Given the description of an element on the screen output the (x, y) to click on. 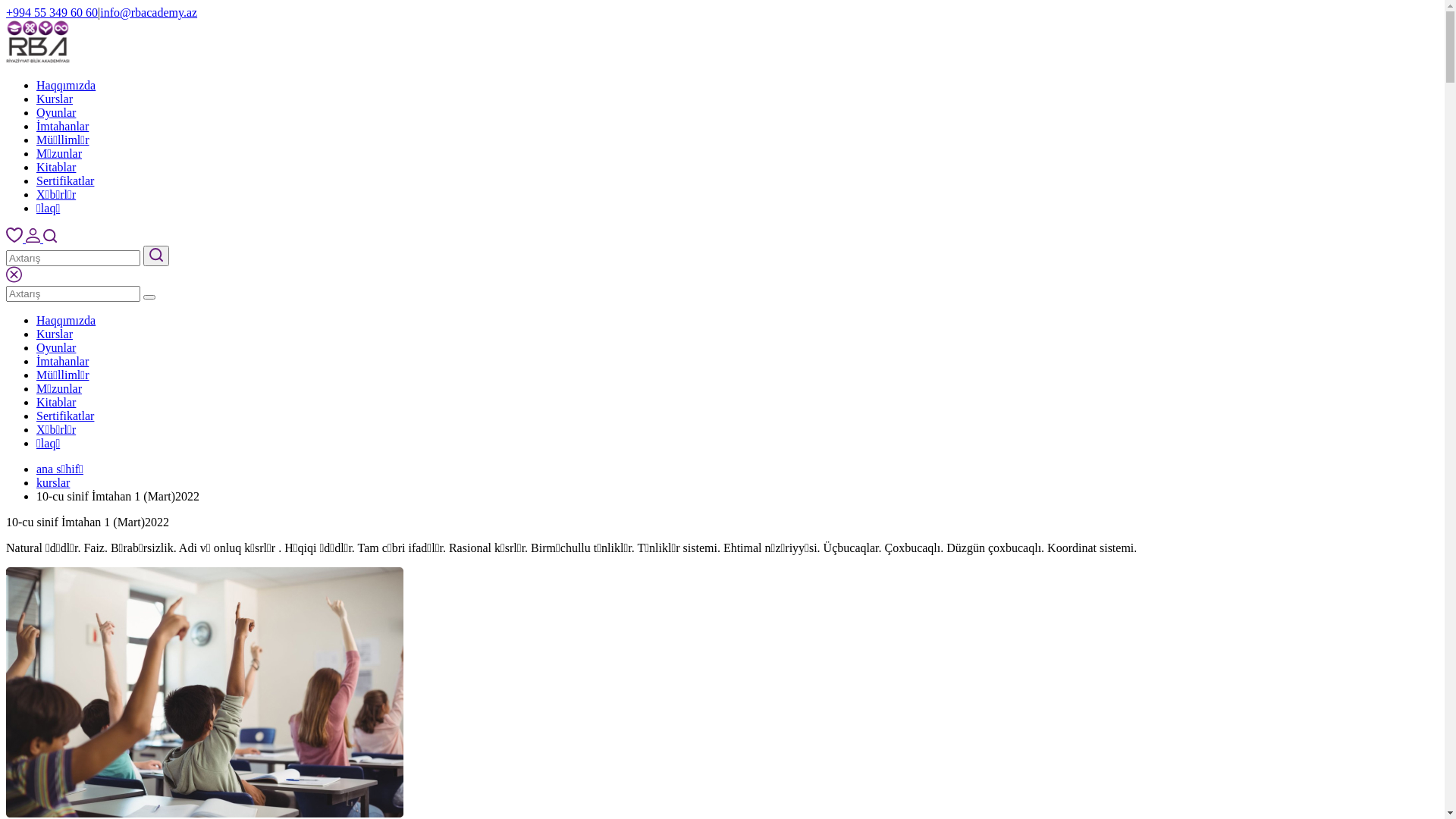
info@rbacademy.az Element type: text (148, 12)
+994 55 349 60 60 Element type: text (51, 12)
Kurslar Element type: text (54, 98)
Kurslar Element type: text (54, 333)
Oyunlar Element type: text (55, 347)
kurslar Element type: text (52, 482)
Oyunlar Element type: text (55, 112)
Kitablar Element type: text (55, 166)
Sertifikatlar Element type: text (65, 415)
Sertifikatlar Element type: text (65, 180)
Kitablar Element type: text (55, 401)
